Given the description of an element on the screen output the (x, y) to click on. 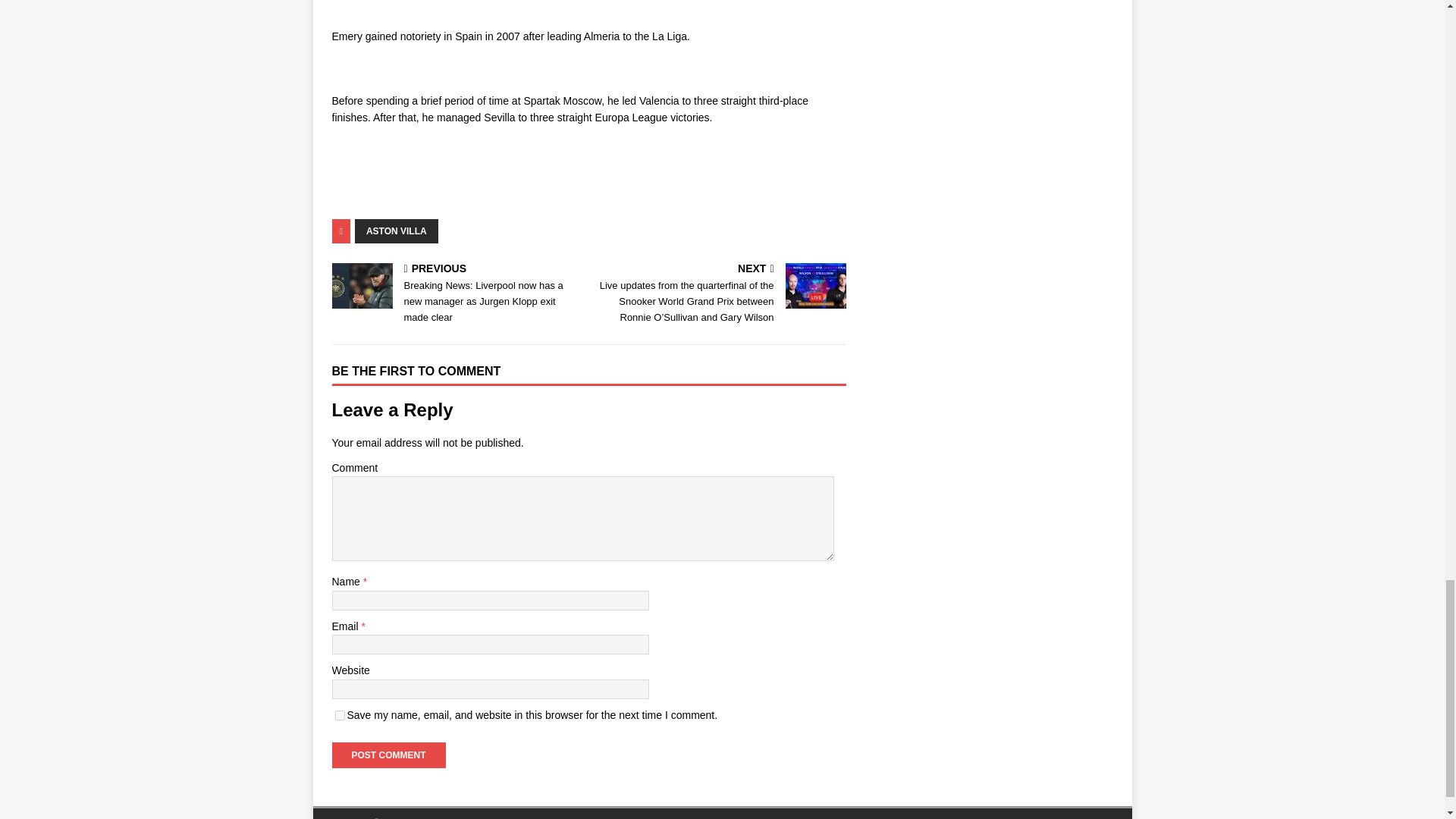
ASTON VILLA (396, 231)
yes (339, 715)
Post Comment (388, 755)
Post Comment (388, 755)
